Given the description of an element on the screen output the (x, y) to click on. 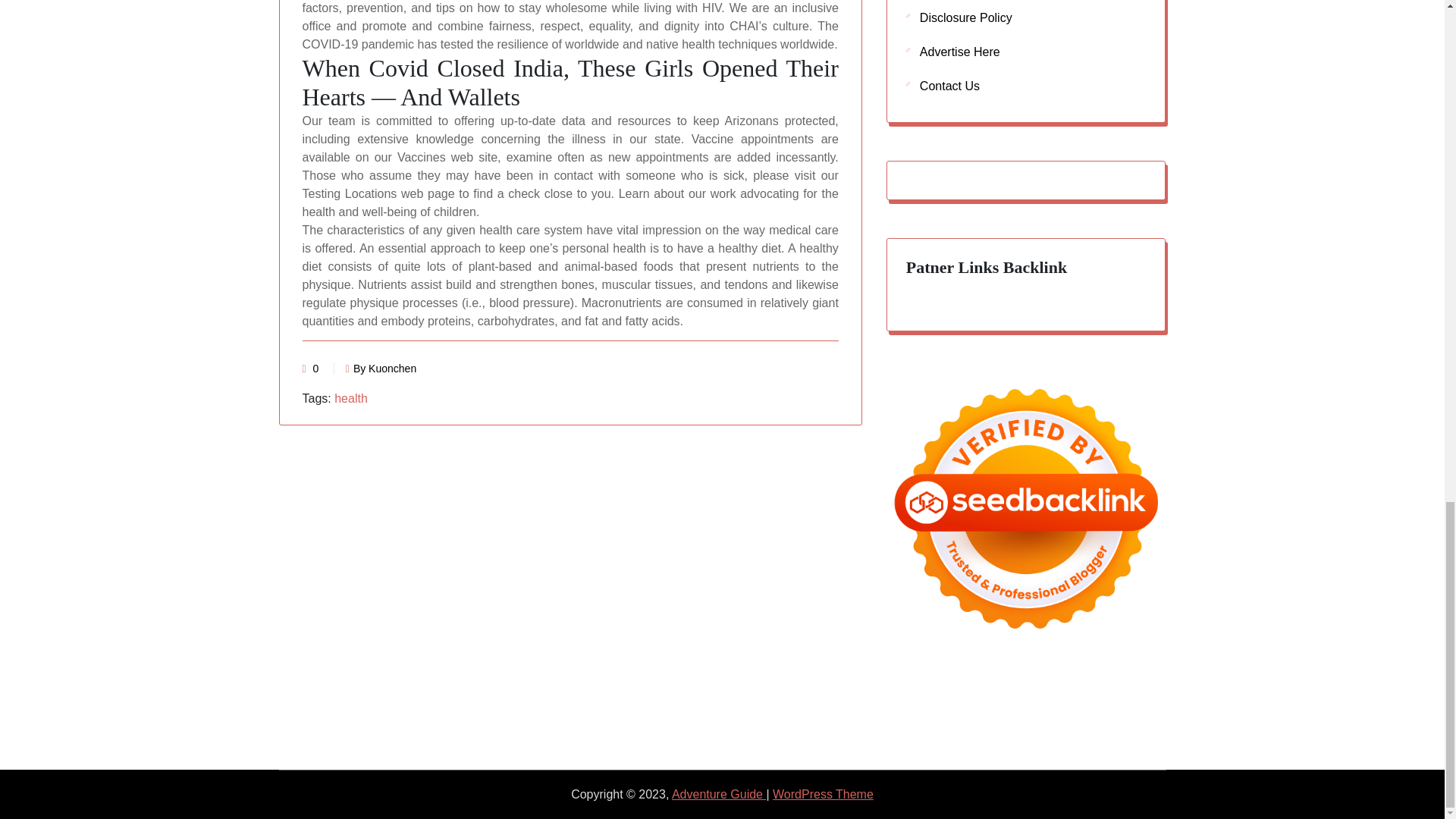
By Kuonchen (380, 368)
0 (315, 368)
health (351, 398)
Seedbacklink (1026, 508)
